Given the description of an element on the screen output the (x, y) to click on. 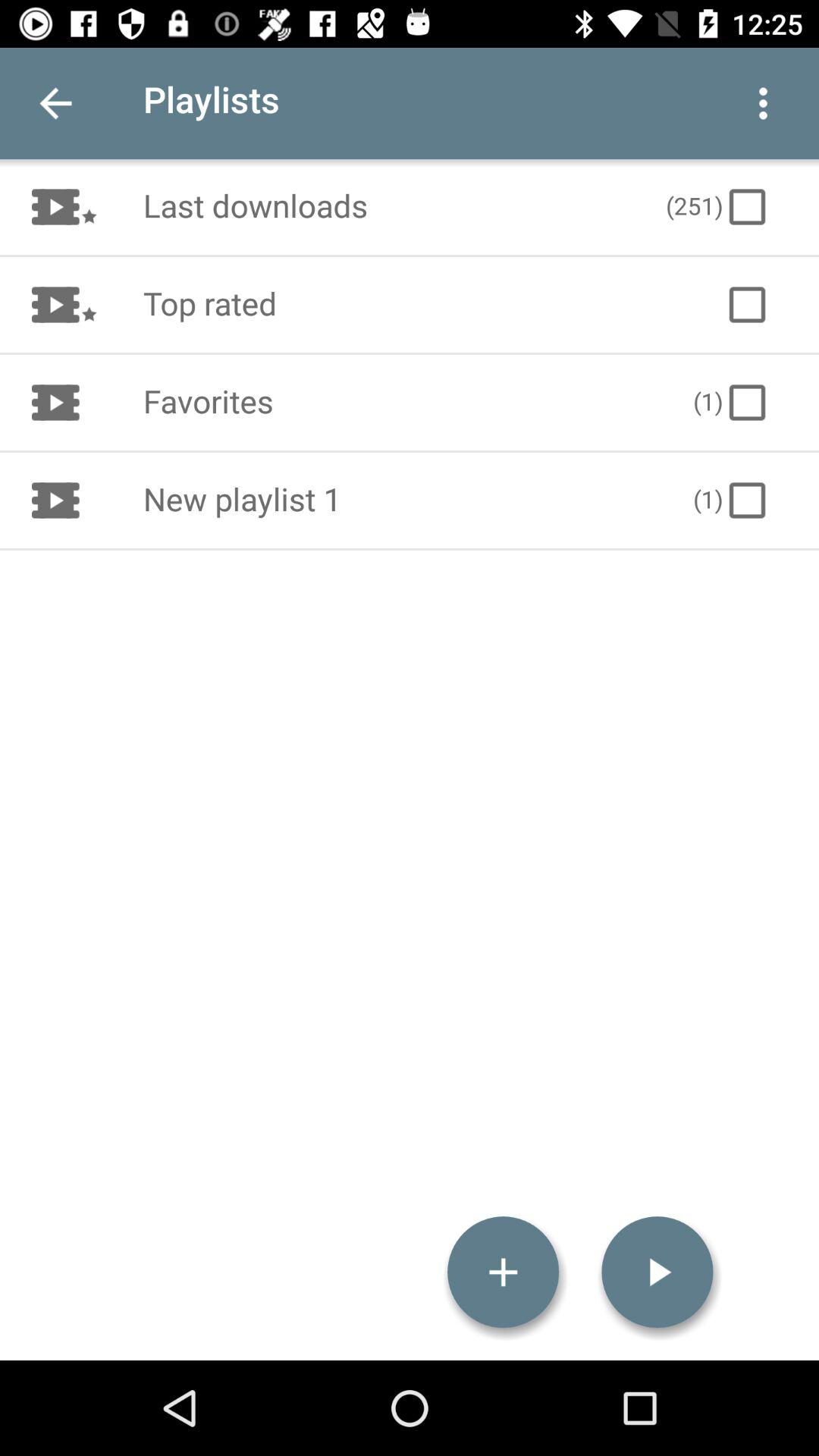
press item to the left of the (1) icon (402, 402)
